Given the description of an element on the screen output the (x, y) to click on. 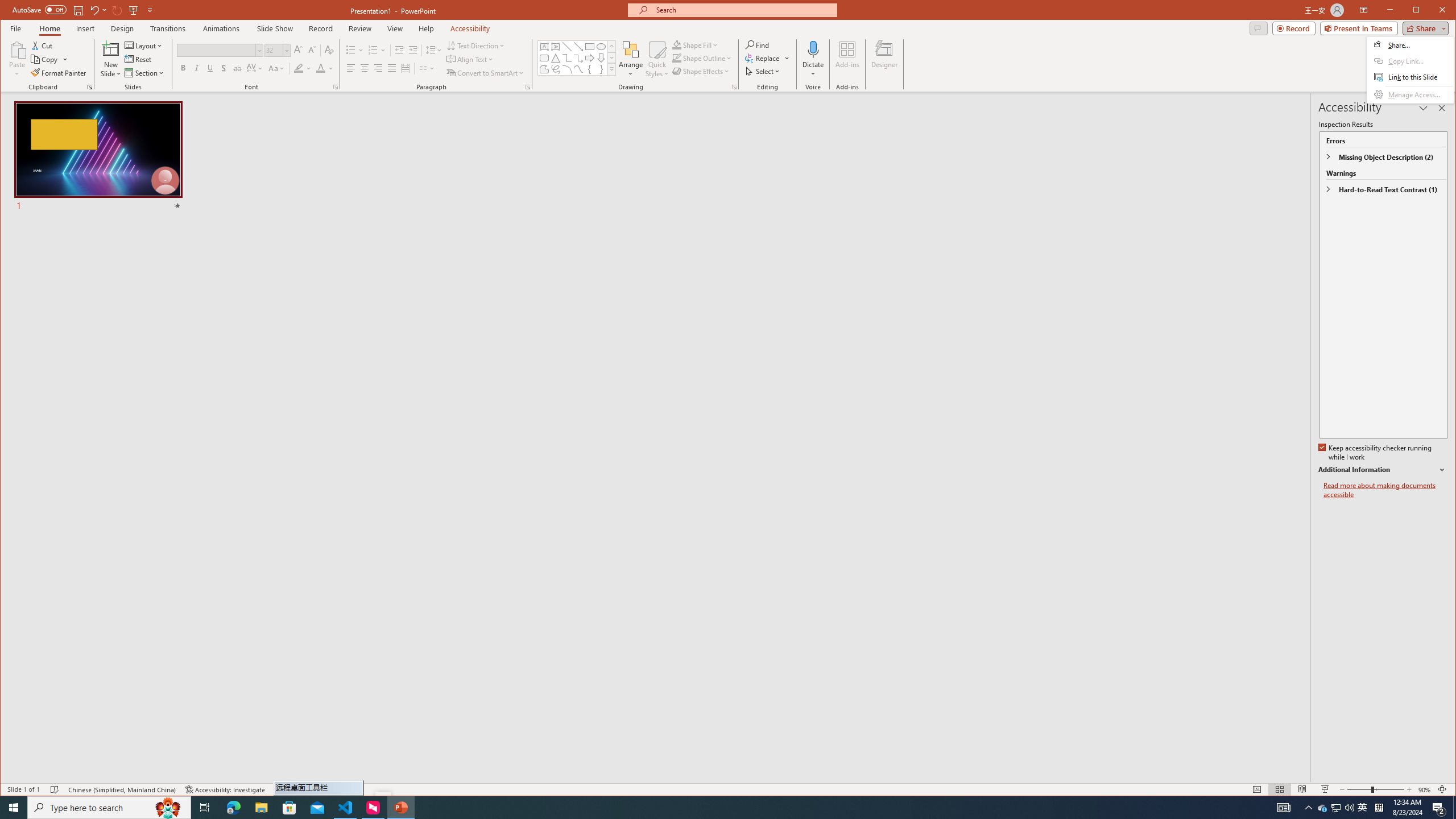
Shape Fill (695, 44)
Vertical Text Box (556, 46)
Line Spacing (433, 49)
Arrange (631, 59)
Convert to SmartArt (485, 72)
Cut (42, 45)
Arrow: Right (589, 57)
